Given the description of an element on the screen output the (x, y) to click on. 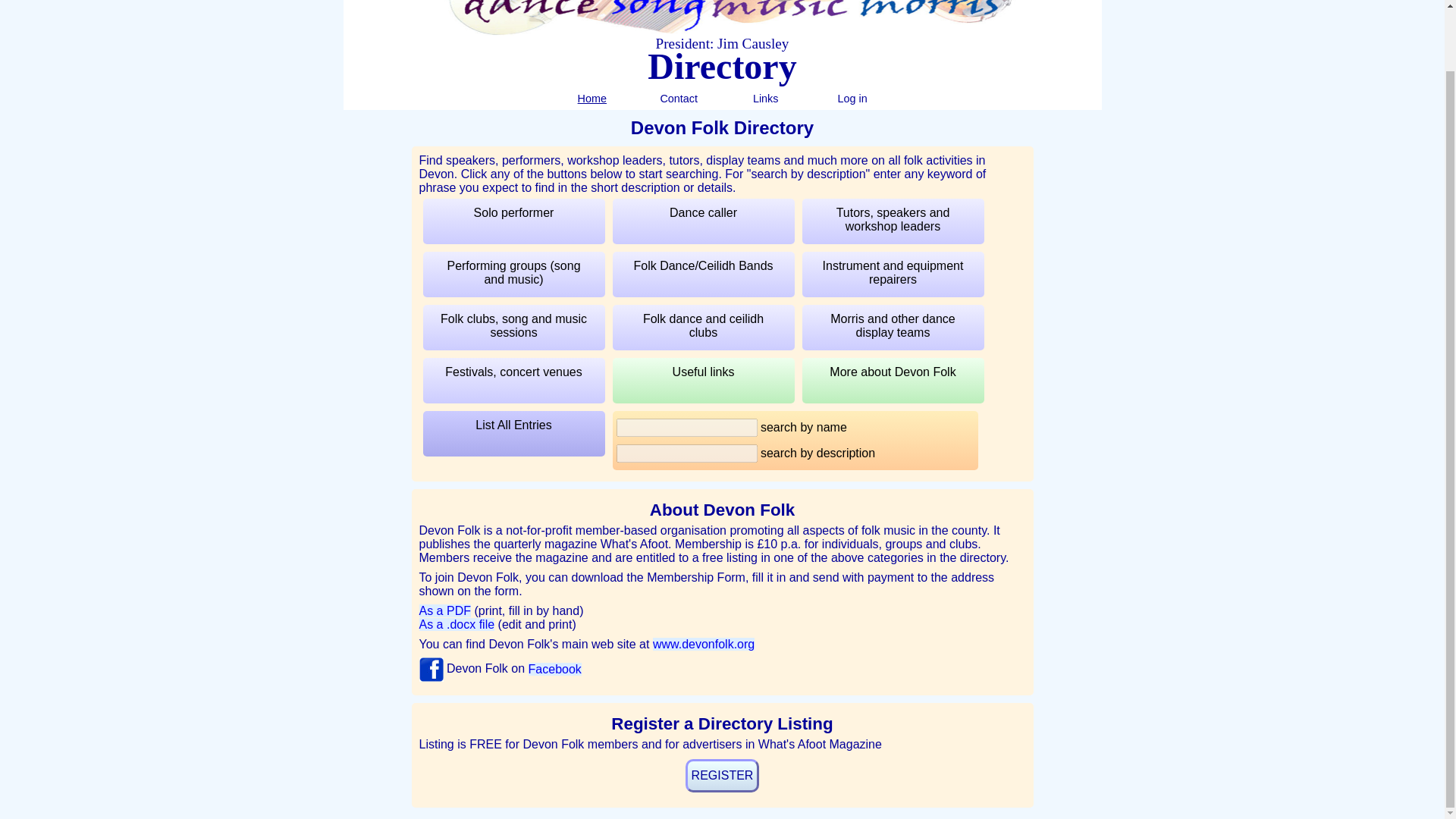
Instrument and equipment repairers (893, 274)
REGISTER (722, 775)
REGISTER (722, 775)
Solo performer (514, 221)
As a PDF (444, 610)
Log in (851, 98)
Morris and other dance display teams (893, 327)
Contact (678, 98)
Dance caller (703, 221)
Useful links (703, 380)
